Given the description of an element on the screen output the (x, y) to click on. 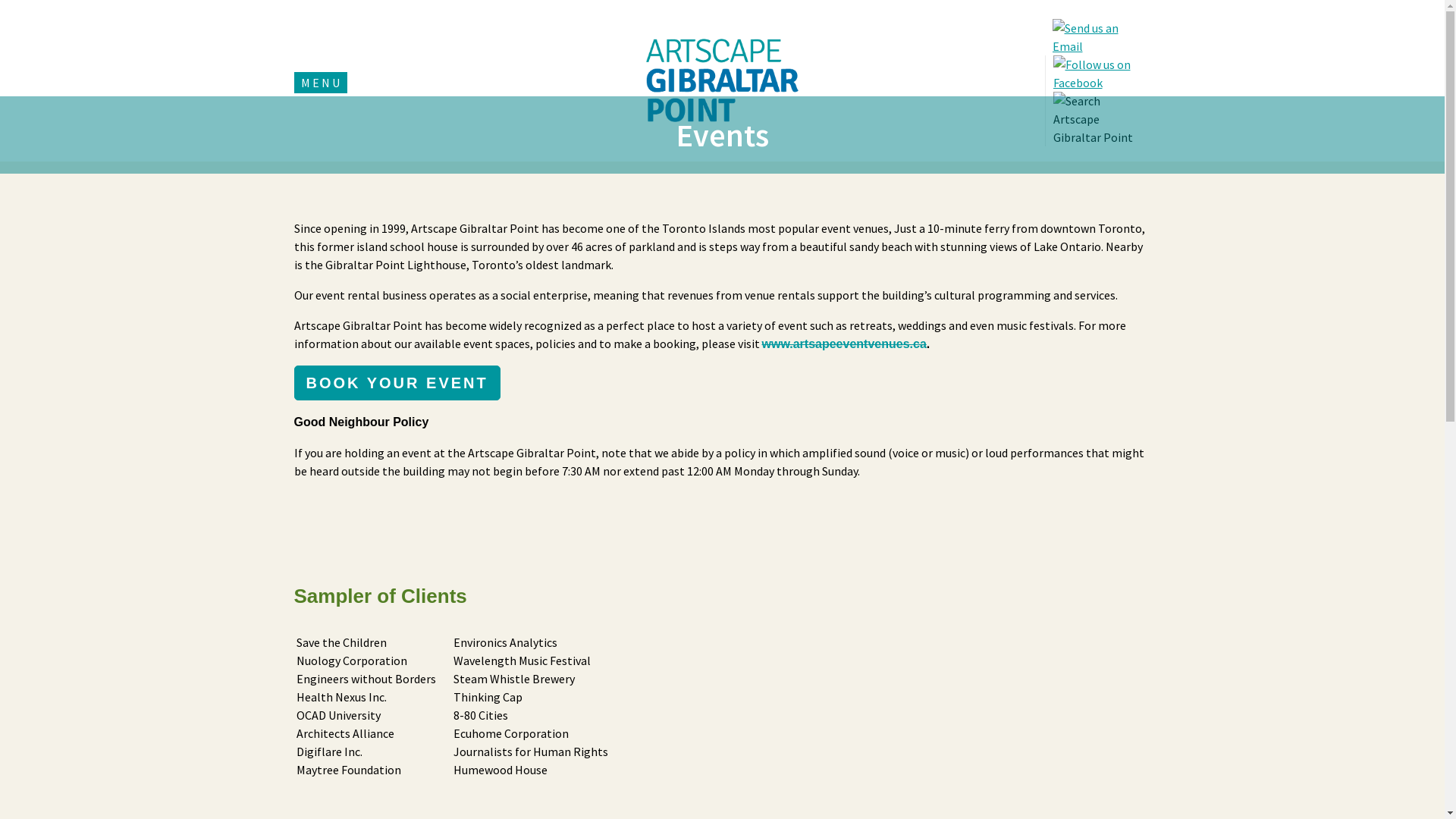
Events Element type: text (722, 134)
www.artsapeeventvenues.ca Element type: text (843, 343)
BOOK YOUR EVENT Element type: text (396, 382)
